Given the description of an element on the screen output the (x, y) to click on. 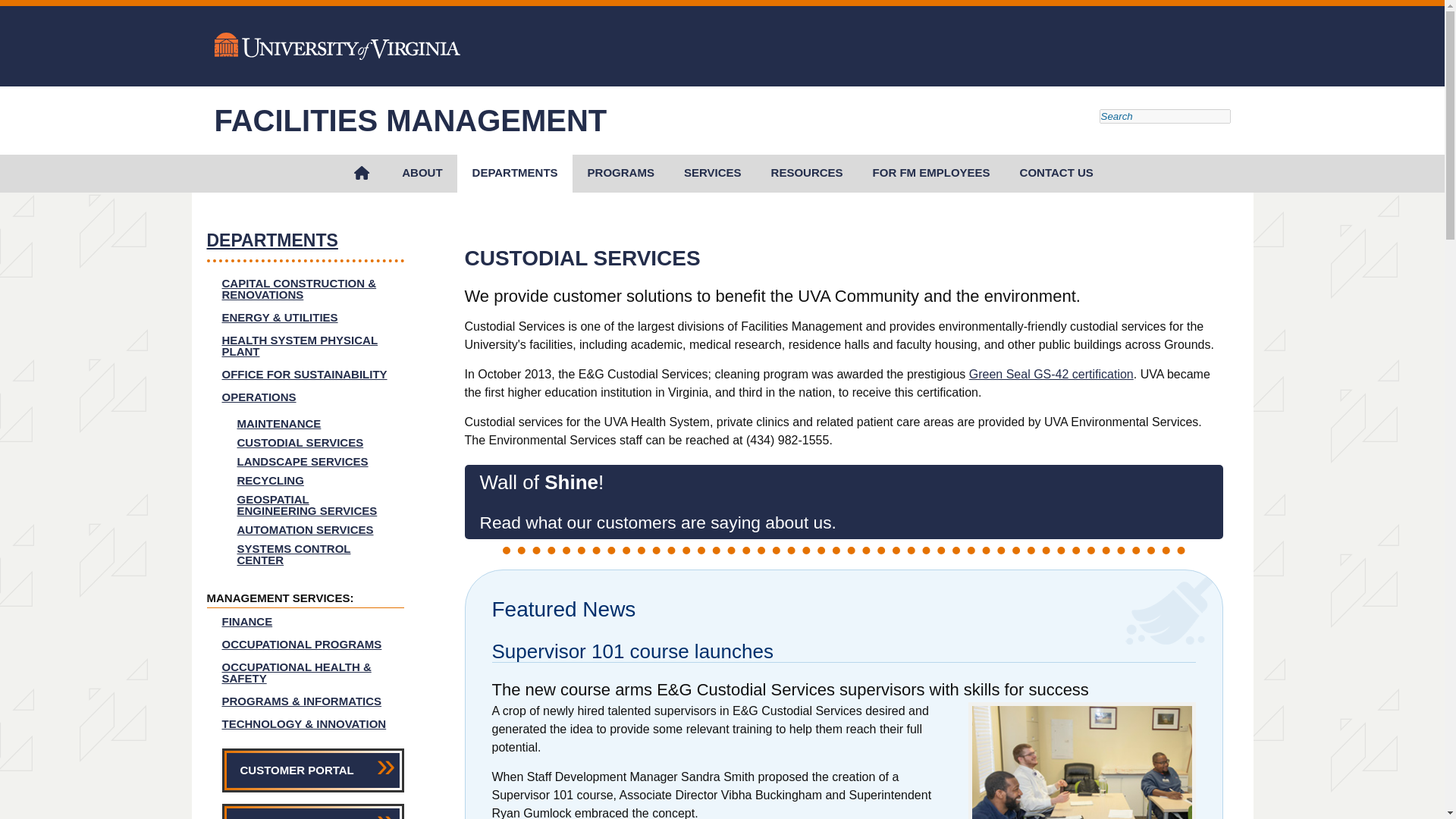
ABOUT (422, 173)
University of Virginia (337, 46)
FACILITIES MANAGEMENT (410, 120)
DEPARTMENTS (514, 173)
